Given the description of an element on the screen output the (x, y) to click on. 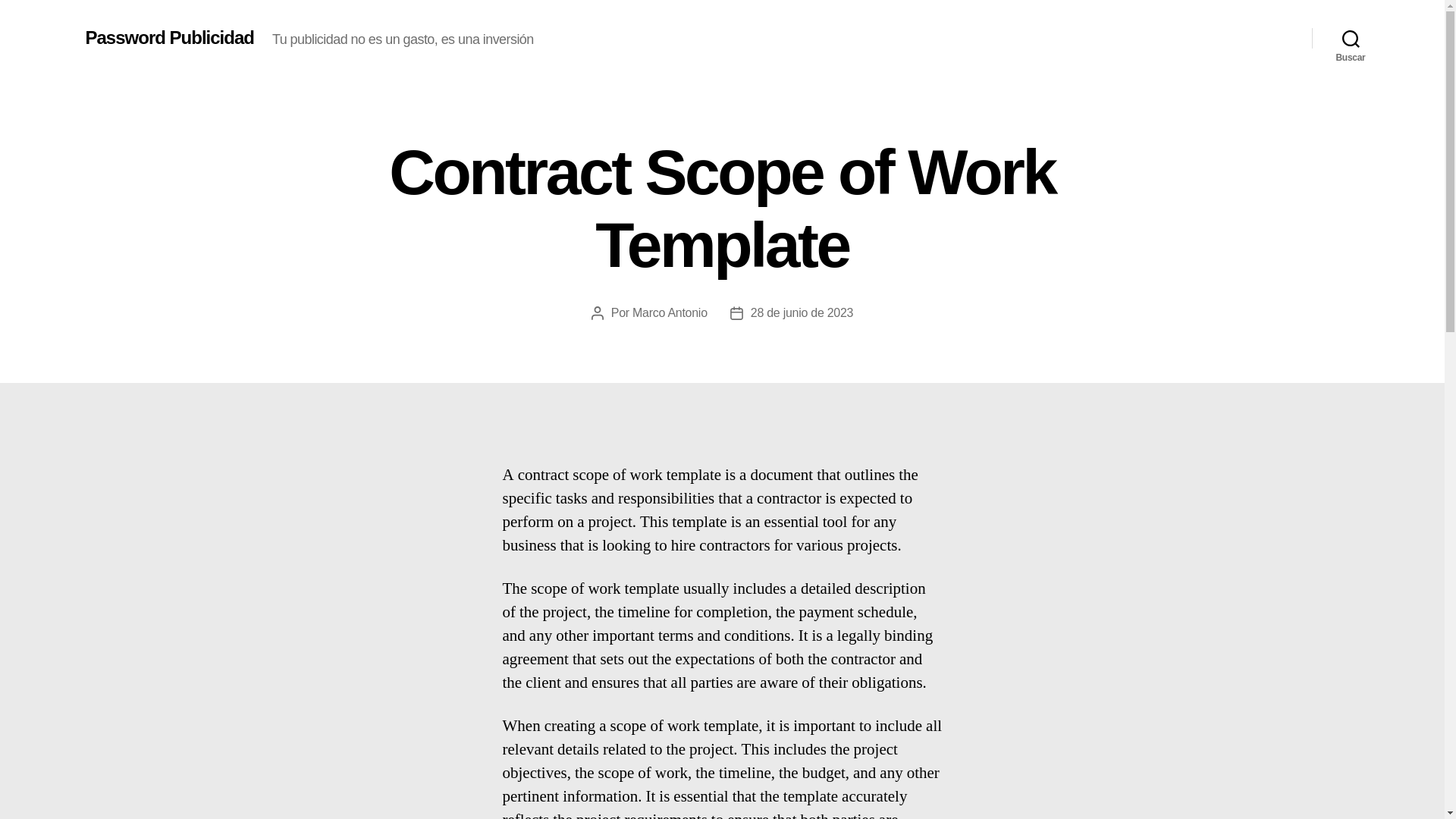
28 de junio de 2023 (802, 312)
Buscar (1350, 37)
Marco Antonio (669, 312)
Password Publicidad (168, 37)
